Given the description of an element on the screen output the (x, y) to click on. 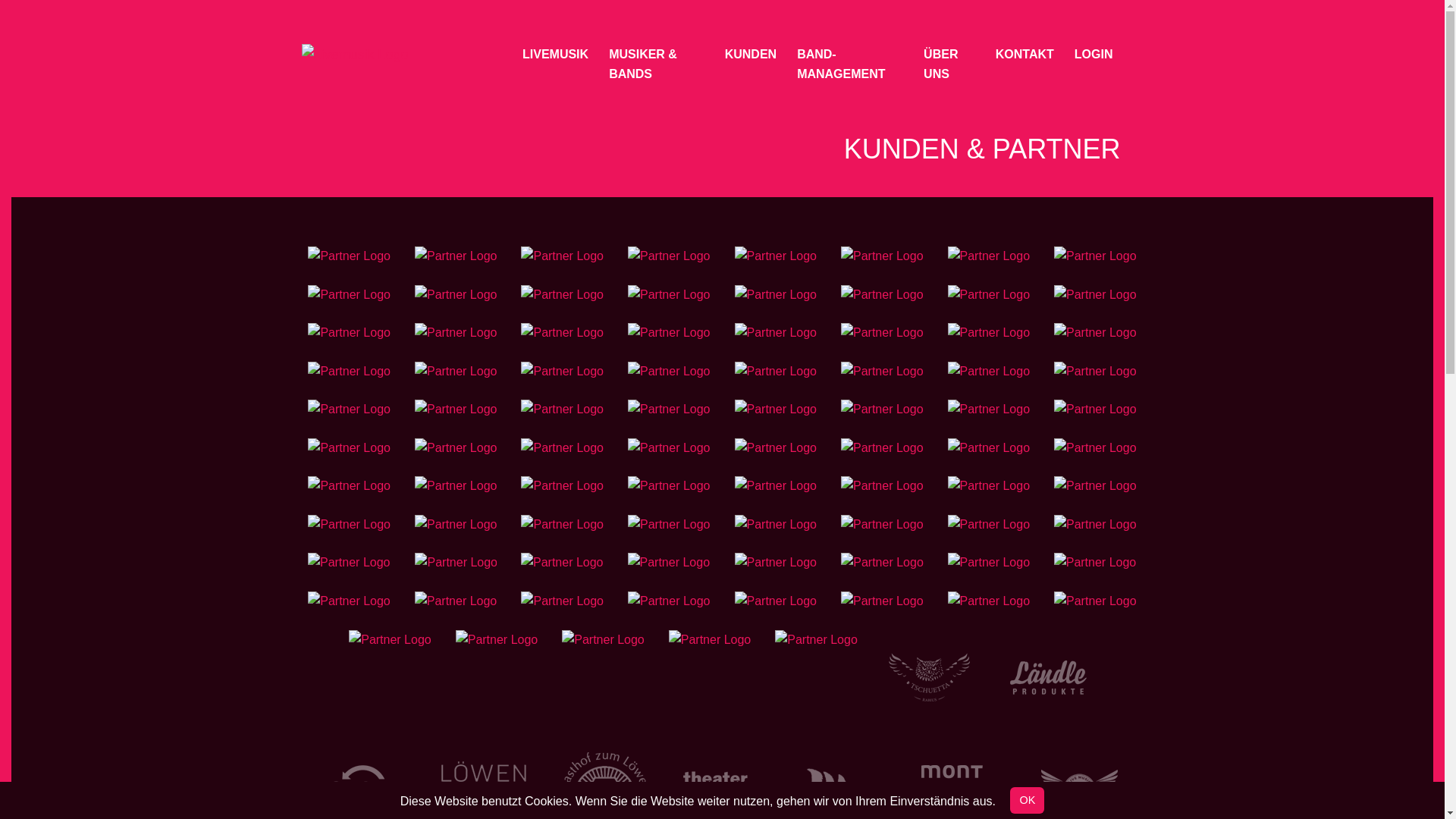
KONTAKT Element type: text (1024, 54)
KUNDEN Element type: text (750, 54)
BAND-MANAGEMENT Element type: text (850, 64)
MUSIKER & BANDS Element type: text (656, 64)
LOGIN Element type: text (1093, 54)
OK Element type: text (1027, 800)
LIVEMUSIK Element type: text (555, 54)
